Given the description of an element on the screen output the (x, y) to click on. 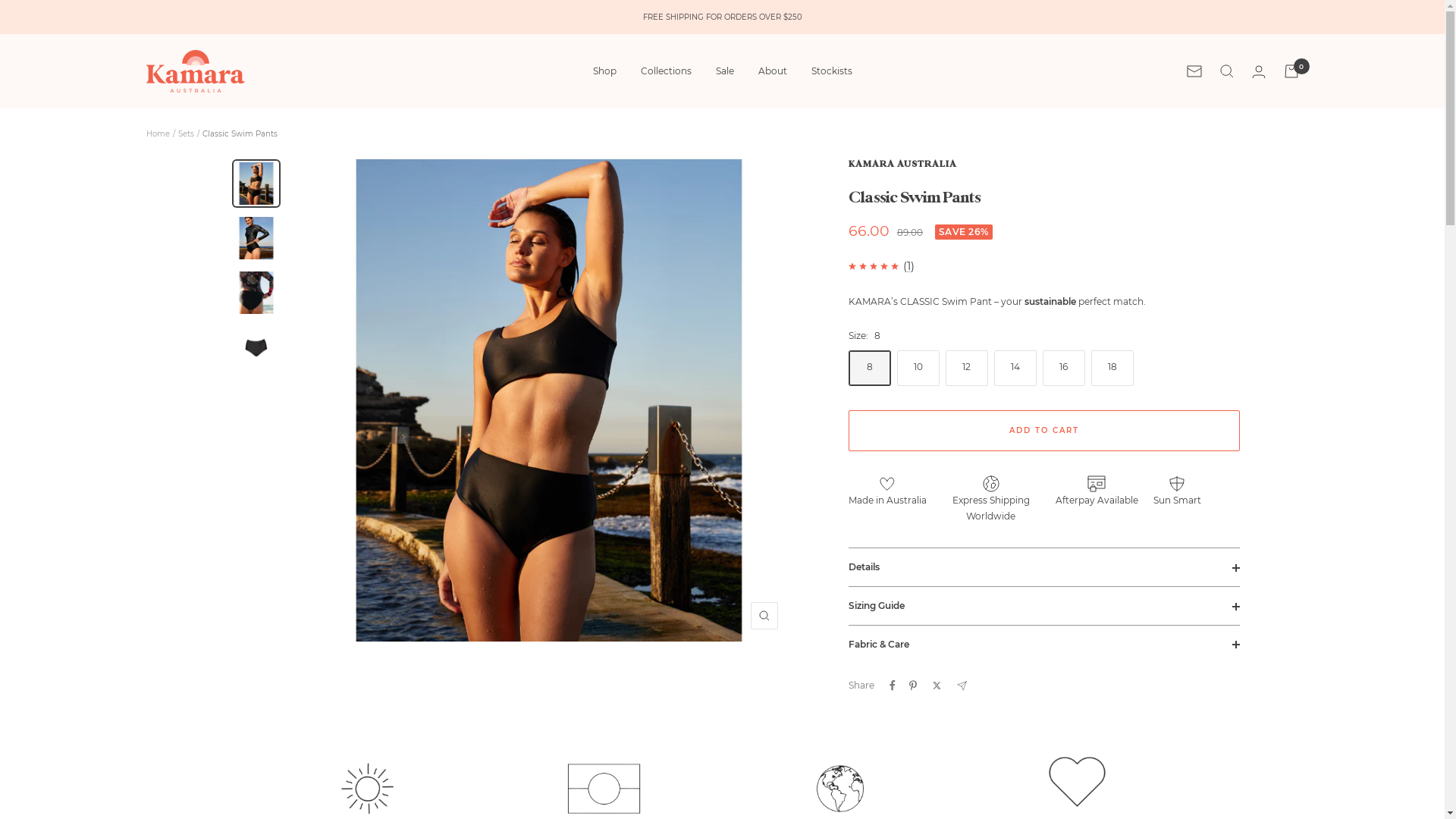
0 Element type: text (1290, 71)
Zoom Element type: text (764, 615)
KAMARA Australia Element type: text (194, 71)
KAMARA AUSTRALIA Element type: text (902, 163)
About Element type: text (772, 71)
Home Element type: text (157, 133)
Collections Element type: text (665, 71)
Fabric & Care Element type: text (1043, 644)
Stockists Element type: text (831, 71)
ADD TO CART Element type: text (1043, 430)
Shop Element type: text (604, 71)
Newsletter Element type: text (1193, 71)
Sizing Guide Element type: text (1043, 605)
Details Element type: text (1043, 566)
Sale Element type: text (724, 71)
Sets Element type: text (185, 133)
1
total reviews Element type: text (908, 266)
